Given the description of an element on the screen output the (x, y) to click on. 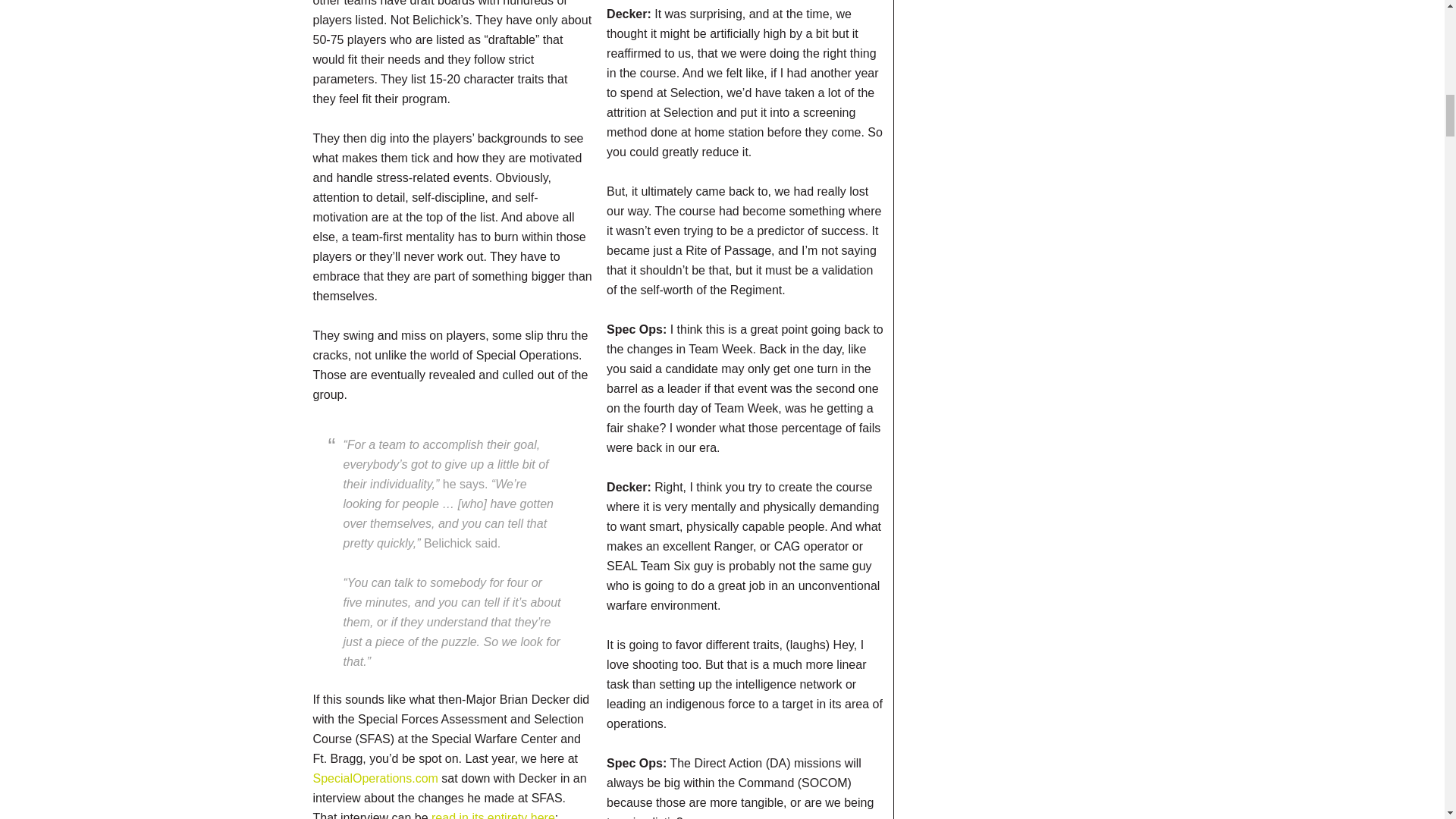
SpecialOperations.com (375, 778)
read in its entirety here (492, 815)
